Given the description of an element on the screen output the (x, y) to click on. 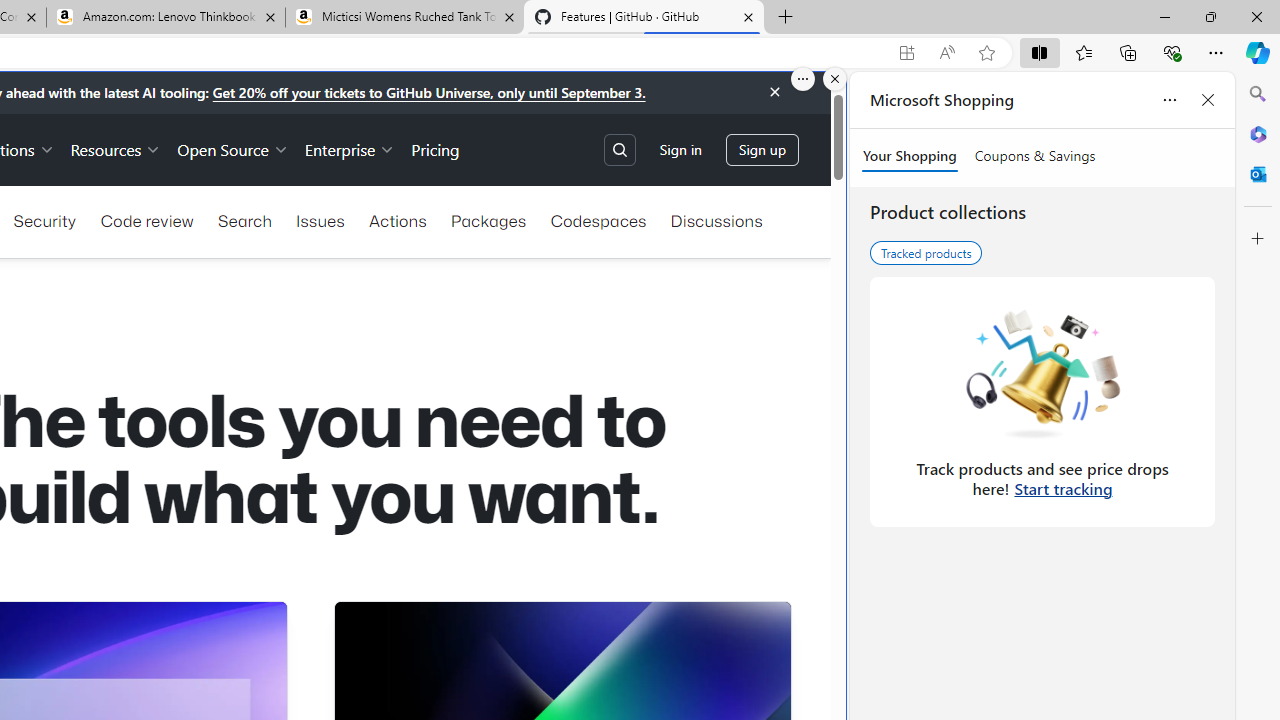
Sign up (761, 149)
Sign in (680, 149)
Actions (397, 220)
Security (44, 220)
Close split screen. (835, 79)
